Given the description of an element on the screen output the (x, y) to click on. 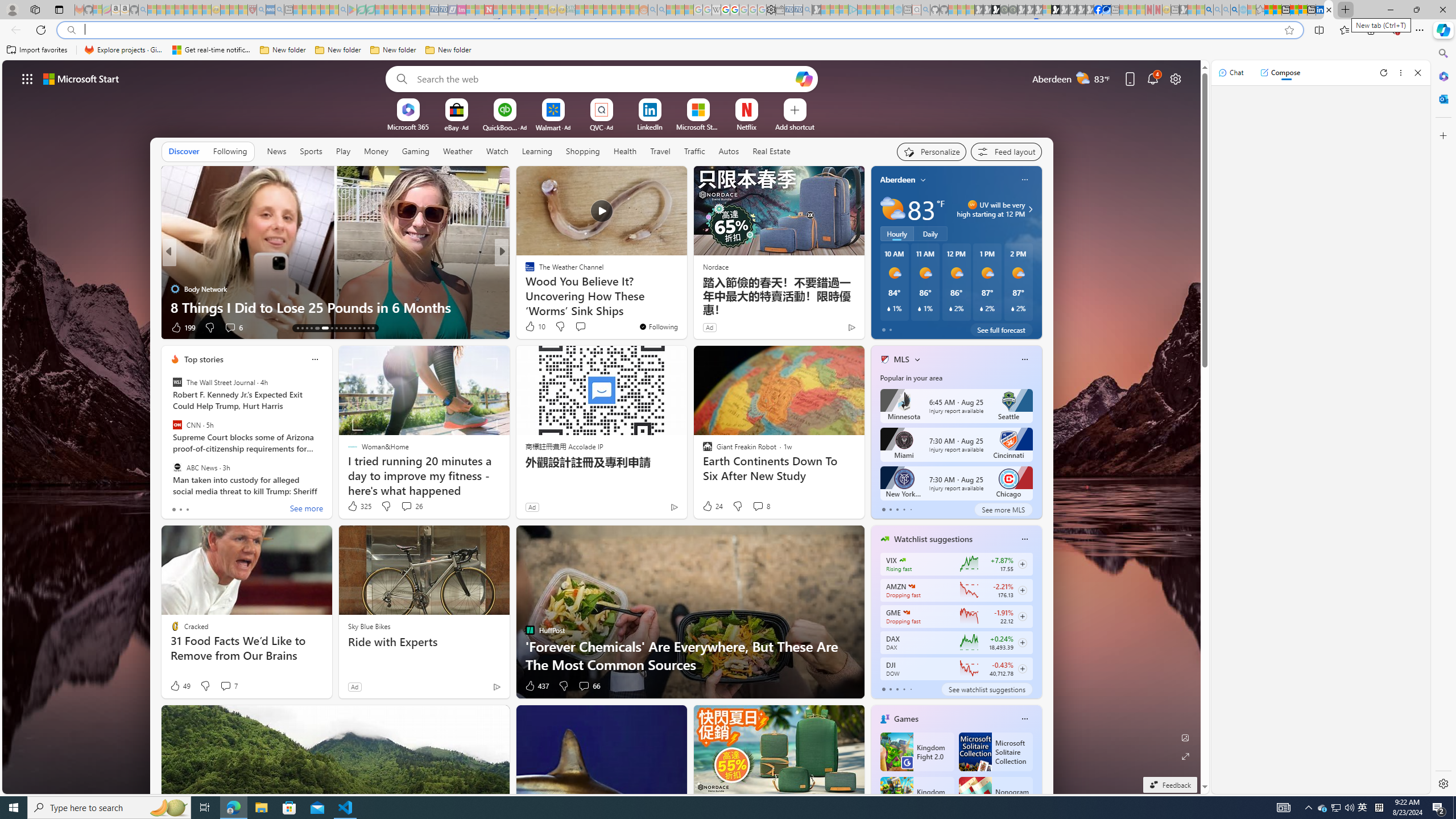
Enter your search term (603, 78)
Class: weather-arrow-glyph (1029, 208)
TechRadar (524, 270)
Games (905, 718)
Add a site (793, 126)
Nonogram FRVR (995, 796)
AutomationID: tab-25 (358, 328)
View comments 66 Comment (588, 685)
